Given the description of an element on the screen output the (x, y) to click on. 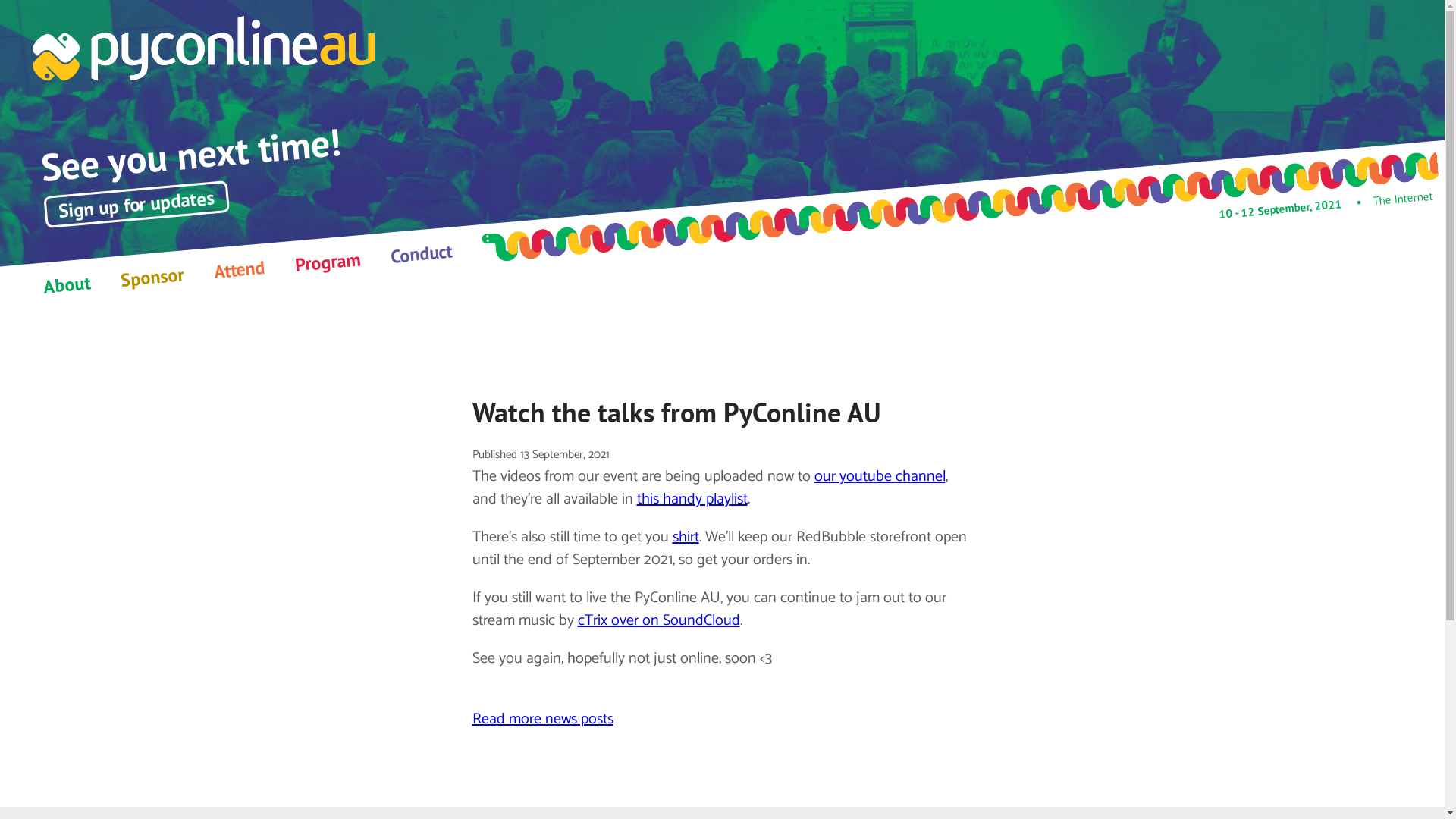
shirt Element type: text (684, 536)
Program Element type: text (326, 258)
Sponsor Element type: text (150, 274)
cTrix over on SoundCloud Element type: text (658, 620)
Attend Element type: text (238, 267)
this handy playlist Element type: text (692, 498)
Sign up for updates Element type: text (135, 196)
Read more news posts Element type: text (541, 718)
Conduct Element type: text (420, 250)
our youtube channel Element type: text (879, 476)
About Element type: text (65, 282)
